Given the description of an element on the screen output the (x, y) to click on. 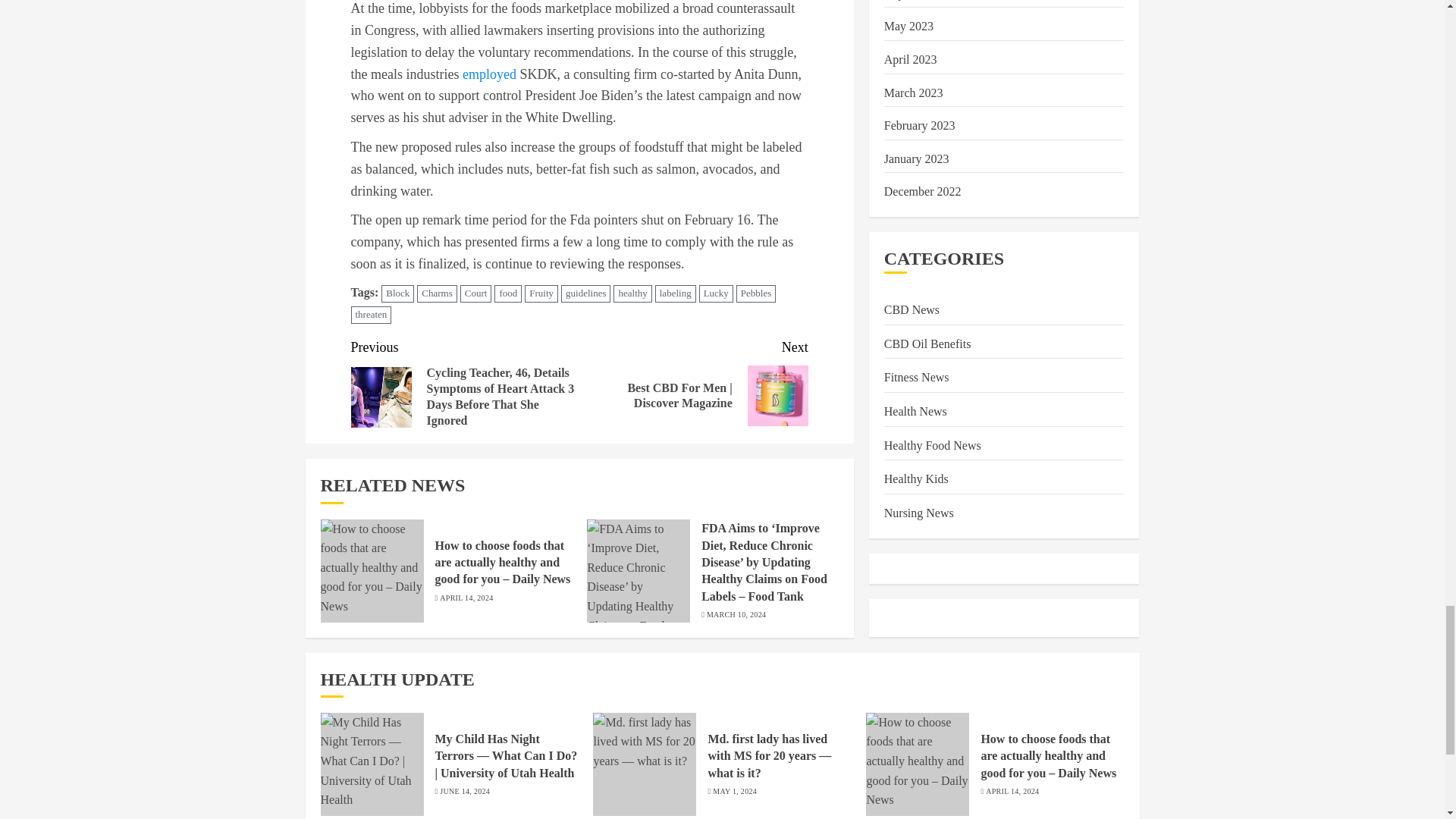
Lucky (715, 293)
Block (397, 293)
food (508, 293)
labeling (675, 293)
Court (476, 293)
employed (489, 73)
Fruity (540, 293)
guidelines (585, 293)
Charms (436, 293)
healthy (631, 293)
